Given the description of an element on the screen output the (x, y) to click on. 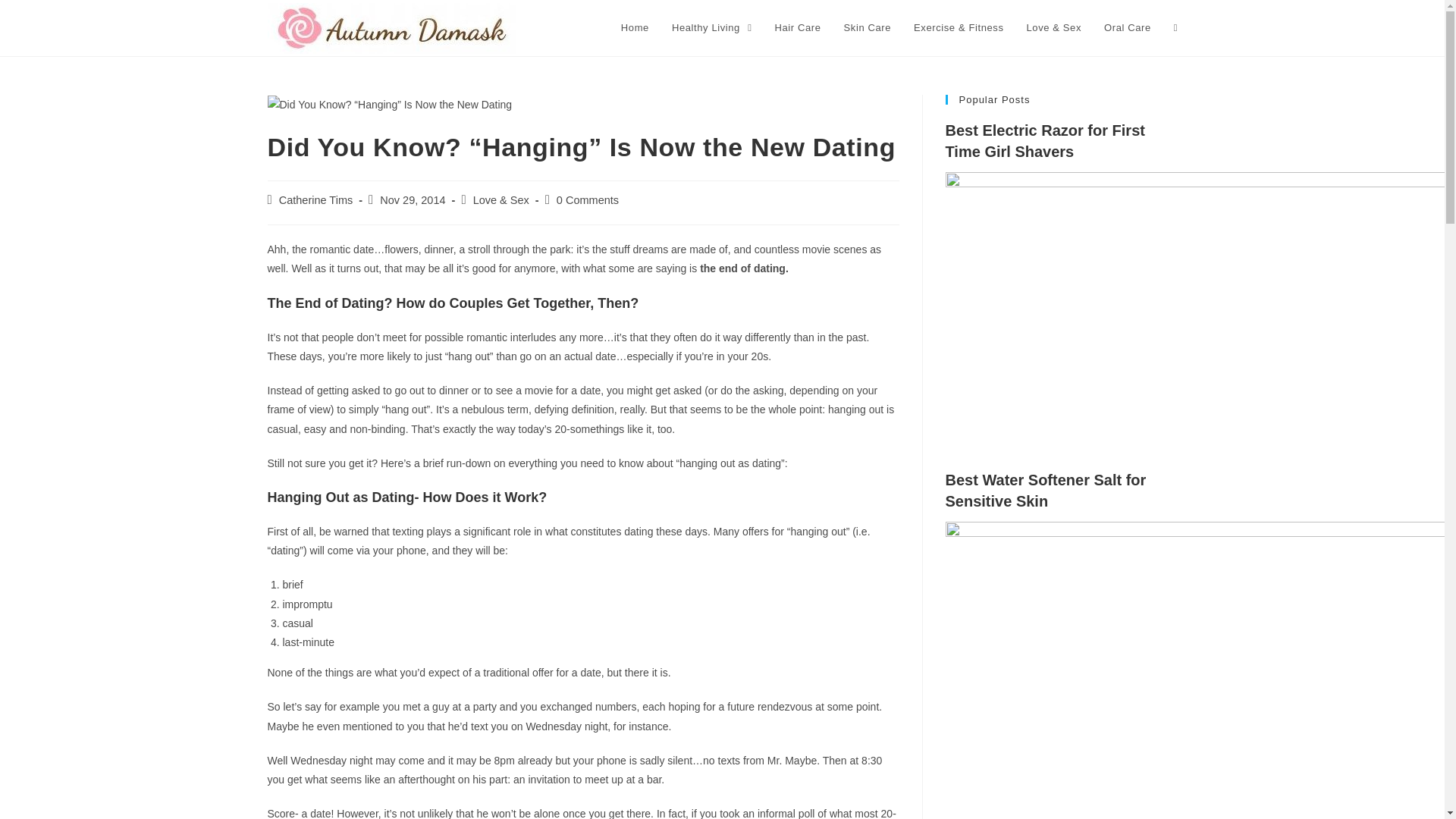
Healthy Living (711, 28)
Oral Care (1127, 28)
0 Comments (587, 200)
Best Electric Razor for First Time Girl Shavers (1200, 440)
Skin Care (867, 28)
Posts by Catherine Tims (316, 200)
Catherine Tims (316, 200)
Hair Care (797, 28)
HOME (635, 28)
Home (635, 28)
